Given the description of an element on the screen output the (x, y) to click on. 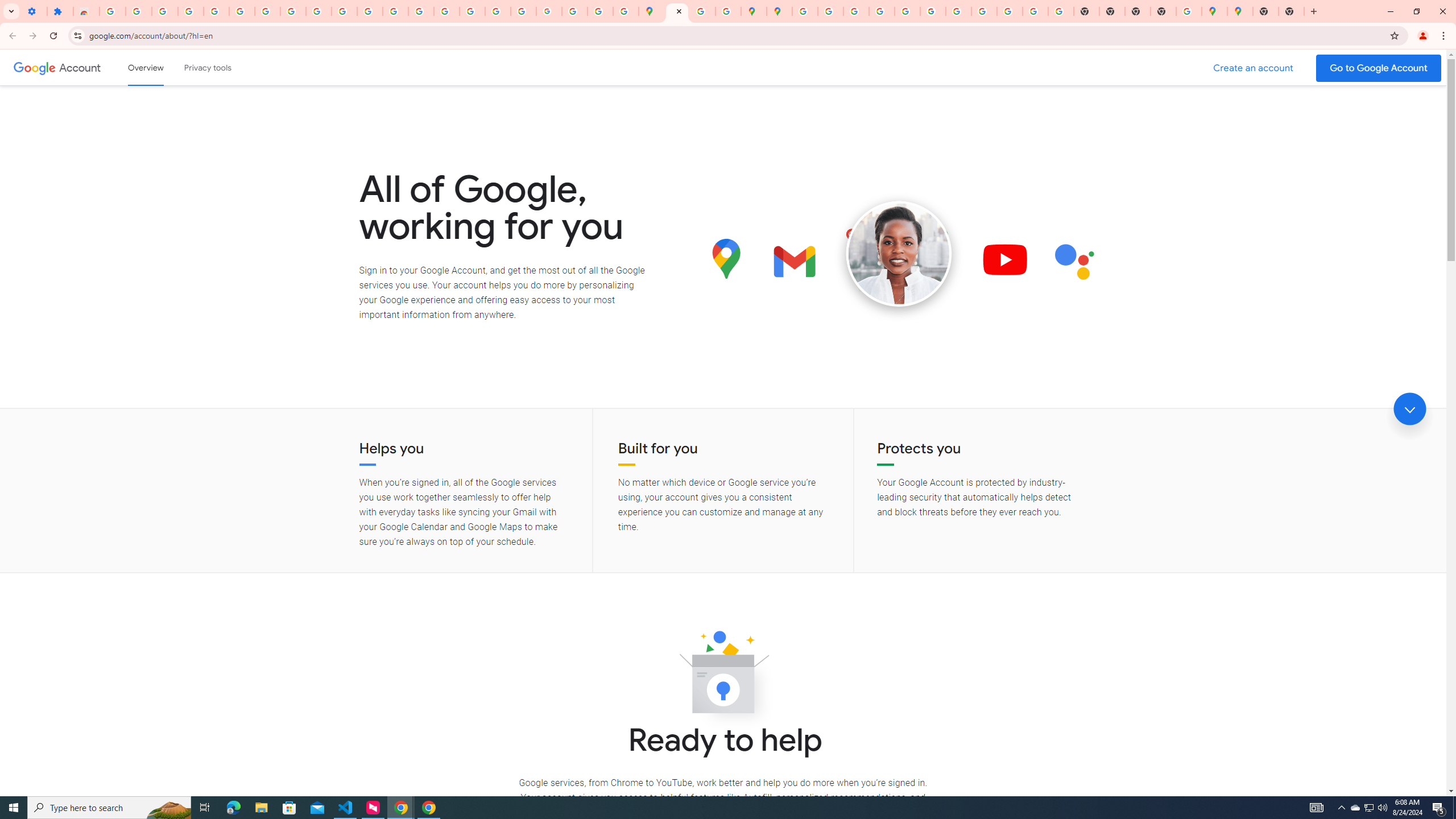
Google Maps (1239, 11)
New Tab (1162, 11)
YouTube (958, 11)
Delete photos & videos - Computer - Google Photos Help (138, 11)
Learn how to find your photos - Google Photos Help (165, 11)
Ready to help (722, 675)
Jump link (1409, 408)
Settings - On startup (34, 11)
Google logo (34, 67)
